Given the description of an element on the screen output the (x, y) to click on. 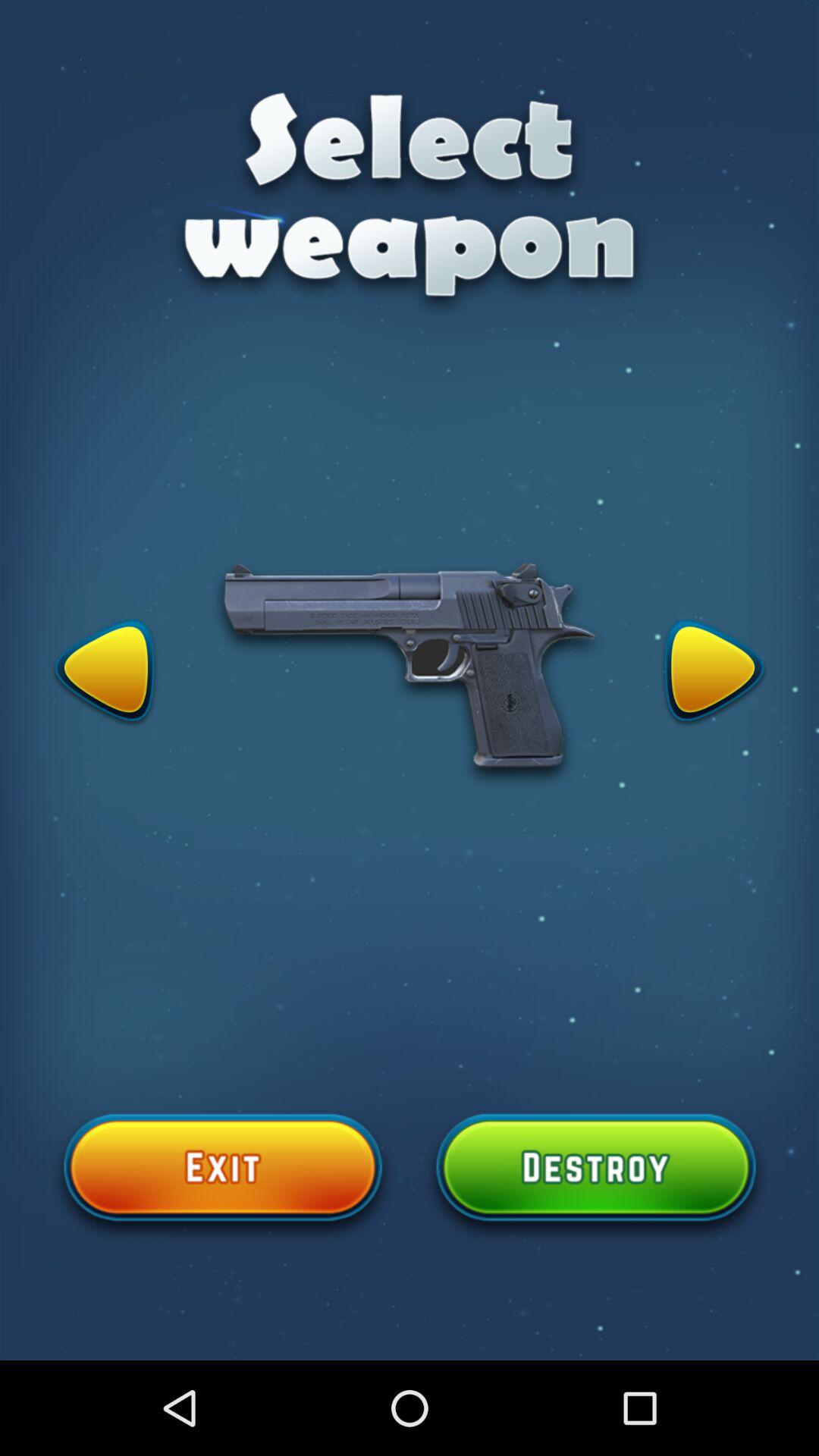
exit button (222, 1176)
